Given the description of an element on the screen output the (x, y) to click on. 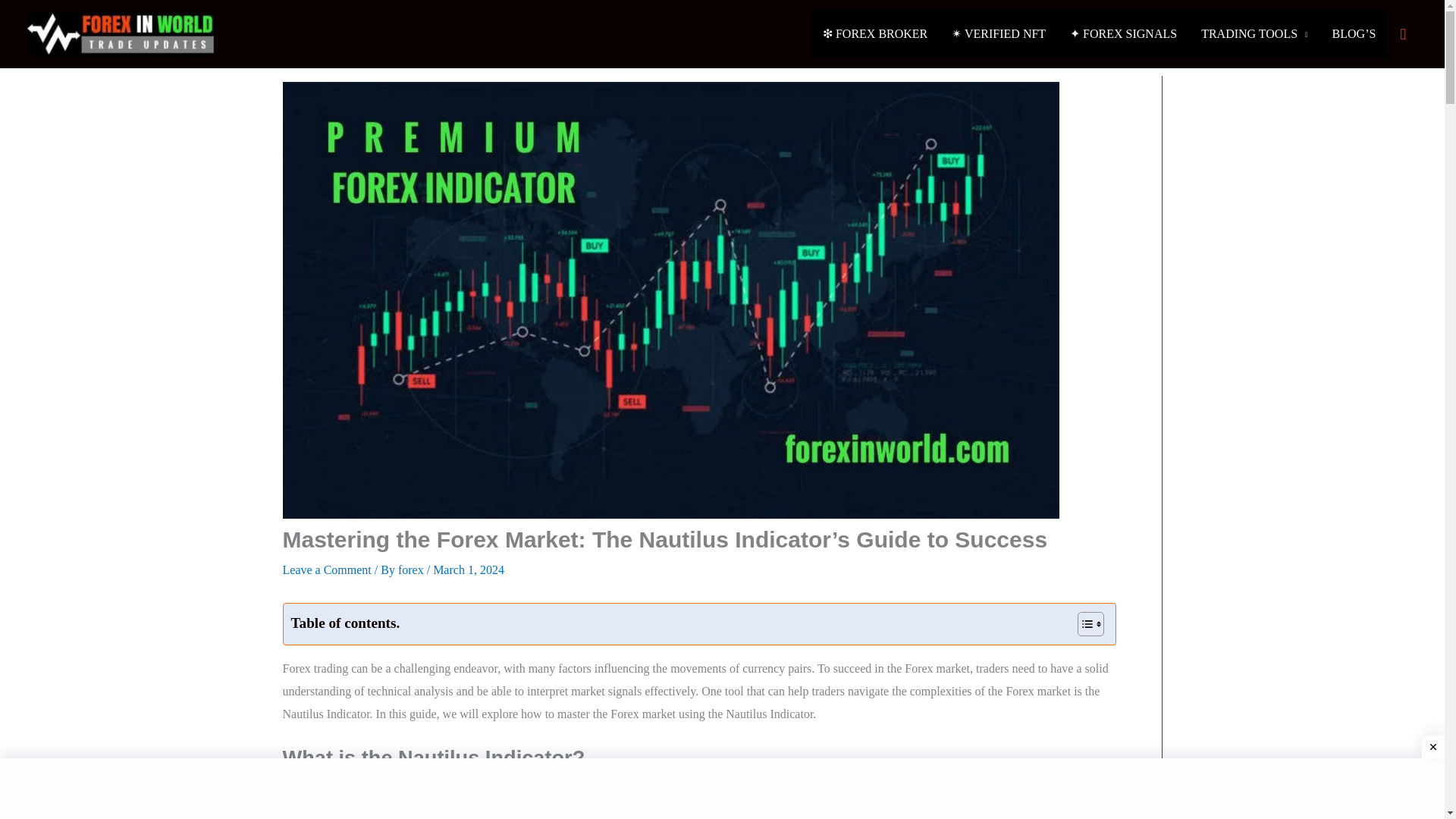
View all posts by forex (411, 569)
TRADING TOOLS (1254, 33)
forex (411, 569)
Leave a Comment (326, 569)
